Given the description of an element on the screen output the (x, y) to click on. 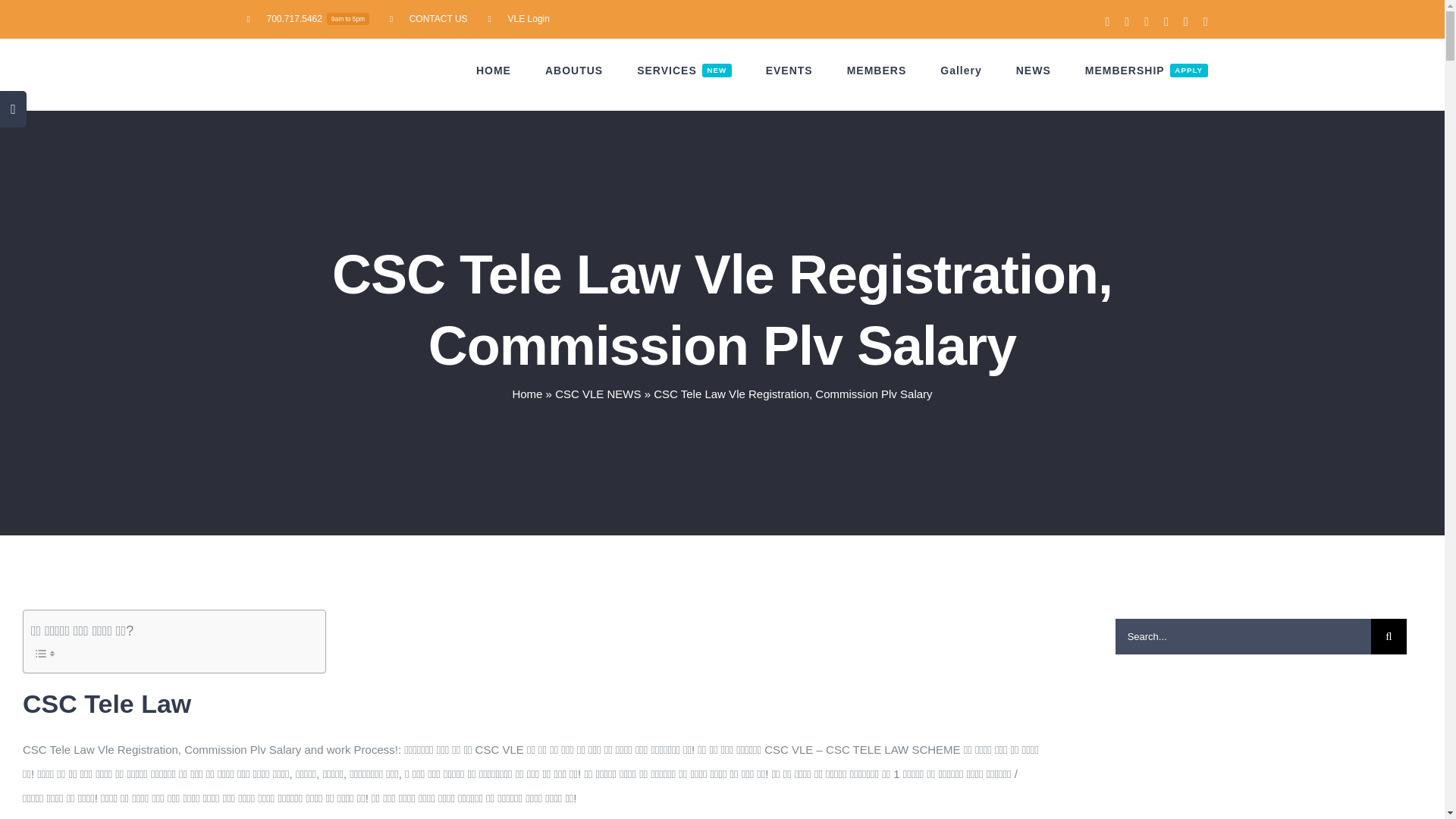
MEMBERS (877, 70)
ABOUTUS (684, 70)
CONTACT US (573, 70)
VLE Login (428, 18)
